Given the description of an element on the screen output the (x, y) to click on. 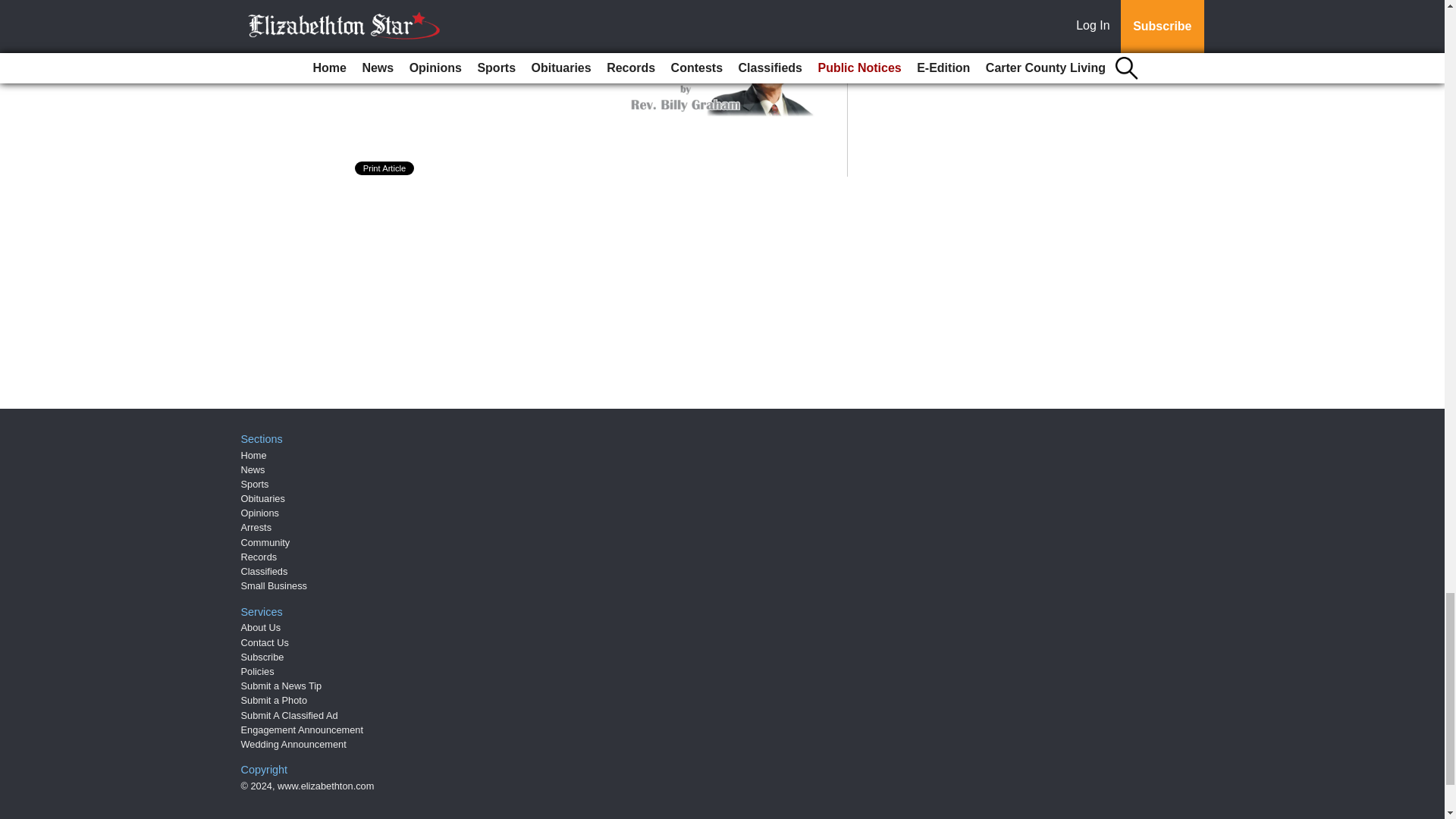
Sports (255, 483)
Community (265, 542)
Arrests (256, 527)
Obituaries (263, 498)
News (252, 469)
Opinions (260, 512)
Print Article (384, 168)
Home (253, 455)
